Given the description of an element on the screen output the (x, y) to click on. 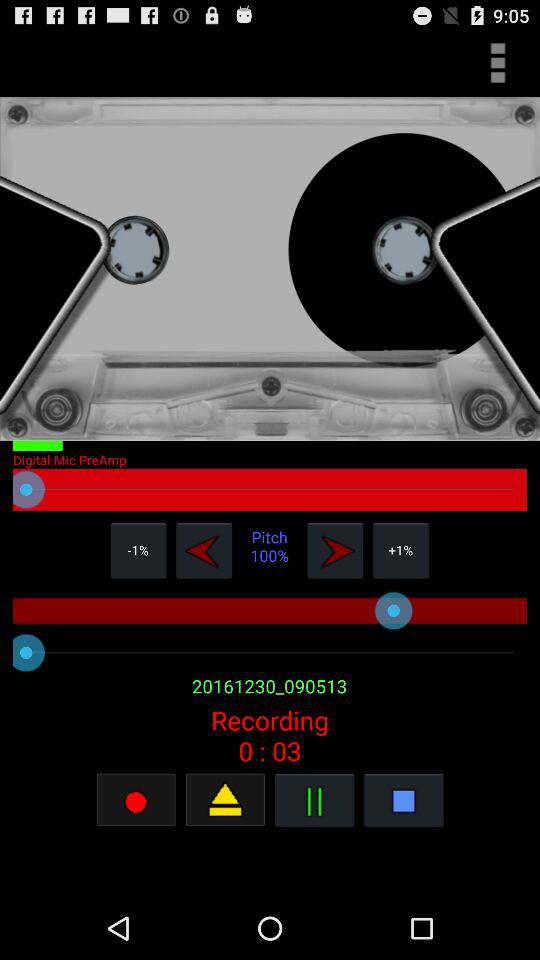
lower pitch (204, 550)
